Given the description of an element on the screen output the (x, y) to click on. 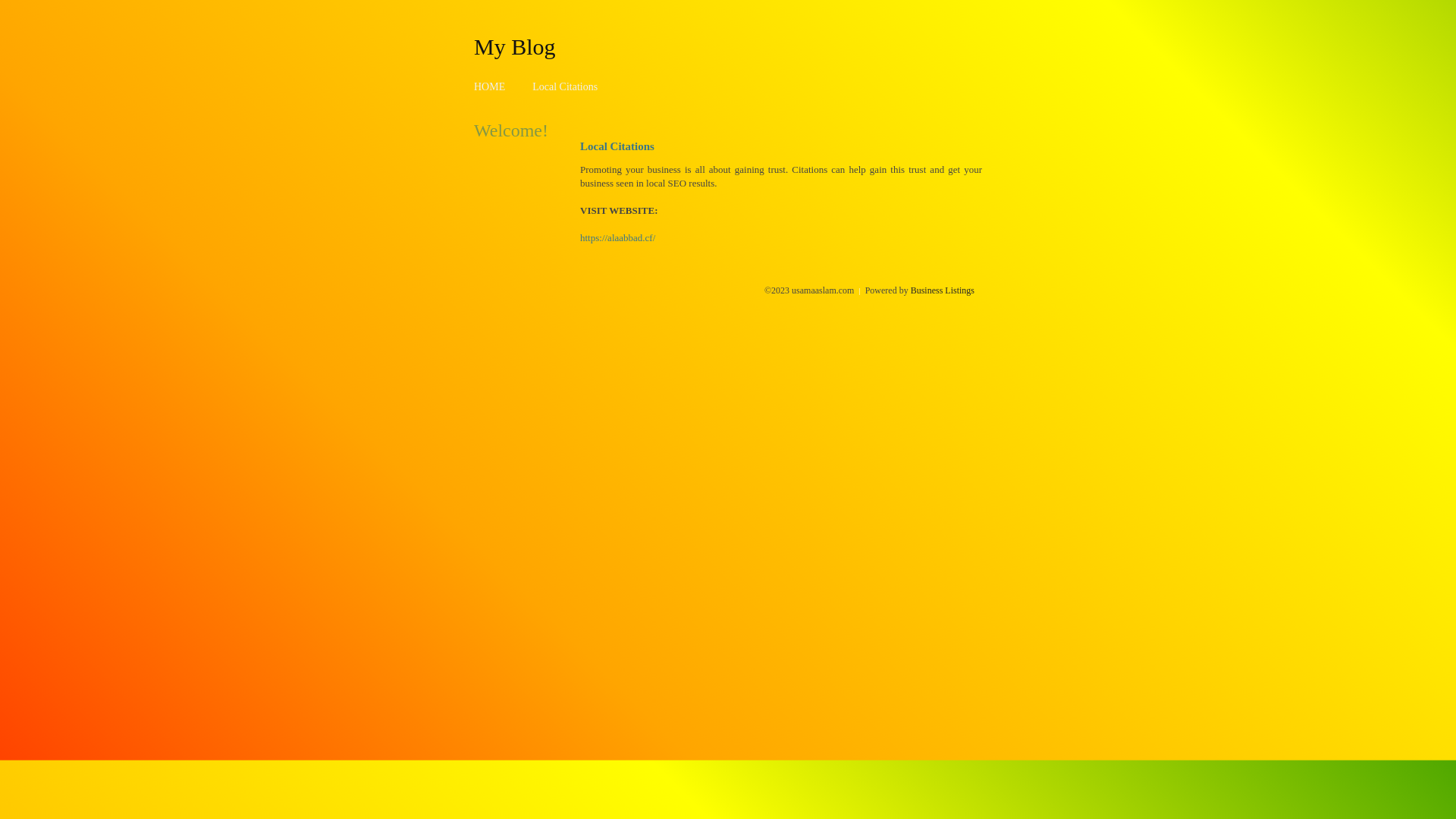
My Blog Element type: text (514, 46)
HOME Element type: text (489, 86)
Business Listings Element type: text (942, 290)
Local Citations Element type: text (564, 86)
https://alaabbad.cf/ Element type: text (617, 237)
